Given the description of an element on the screen output the (x, y) to click on. 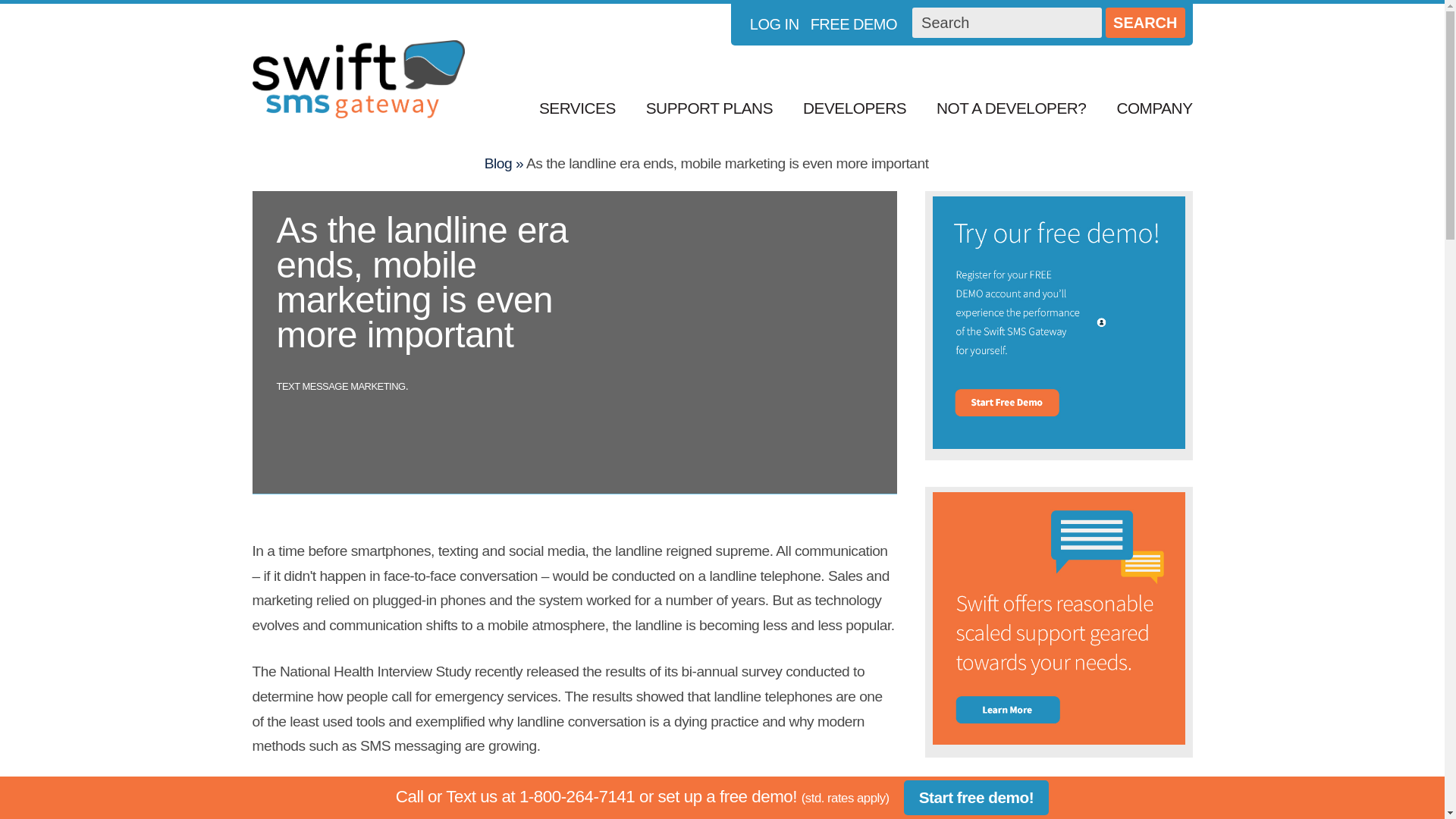
Search (1007, 22)
Search the website (1007, 22)
TEXT MESSAGE MARKETING (340, 386)
DEVELOPERS (854, 108)
FREE DEMO (853, 23)
NOT A DEVELOPER? (1010, 108)
COMPANY (1146, 108)
SERVICES (577, 108)
LOG IN (774, 23)
Search (1145, 22)
SUPPORT PLANS (708, 108)
Search (1145, 22)
